Given the description of an element on the screen output the (x, y) to click on. 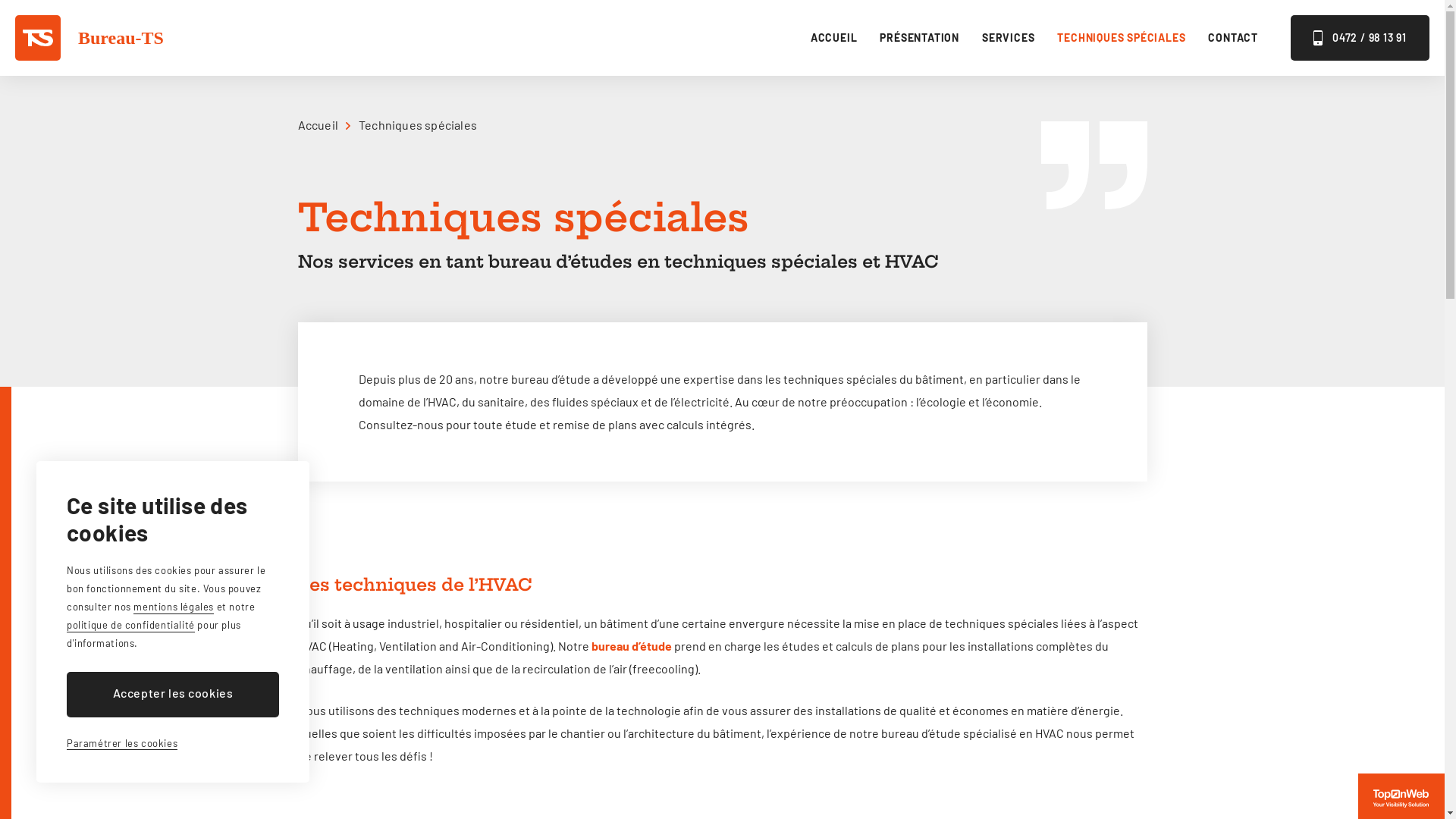
Accueil Element type: text (323, 124)
CONTACT Element type: text (1233, 37)
SERVICES Element type: text (1008, 37)
ACCUEIL Element type: text (833, 37)
Bureau-TS Element type: text (89, 37)
0472 / 98 13 91 Element type: text (1359, 37)
